Given the description of an element on the screen output the (x, y) to click on. 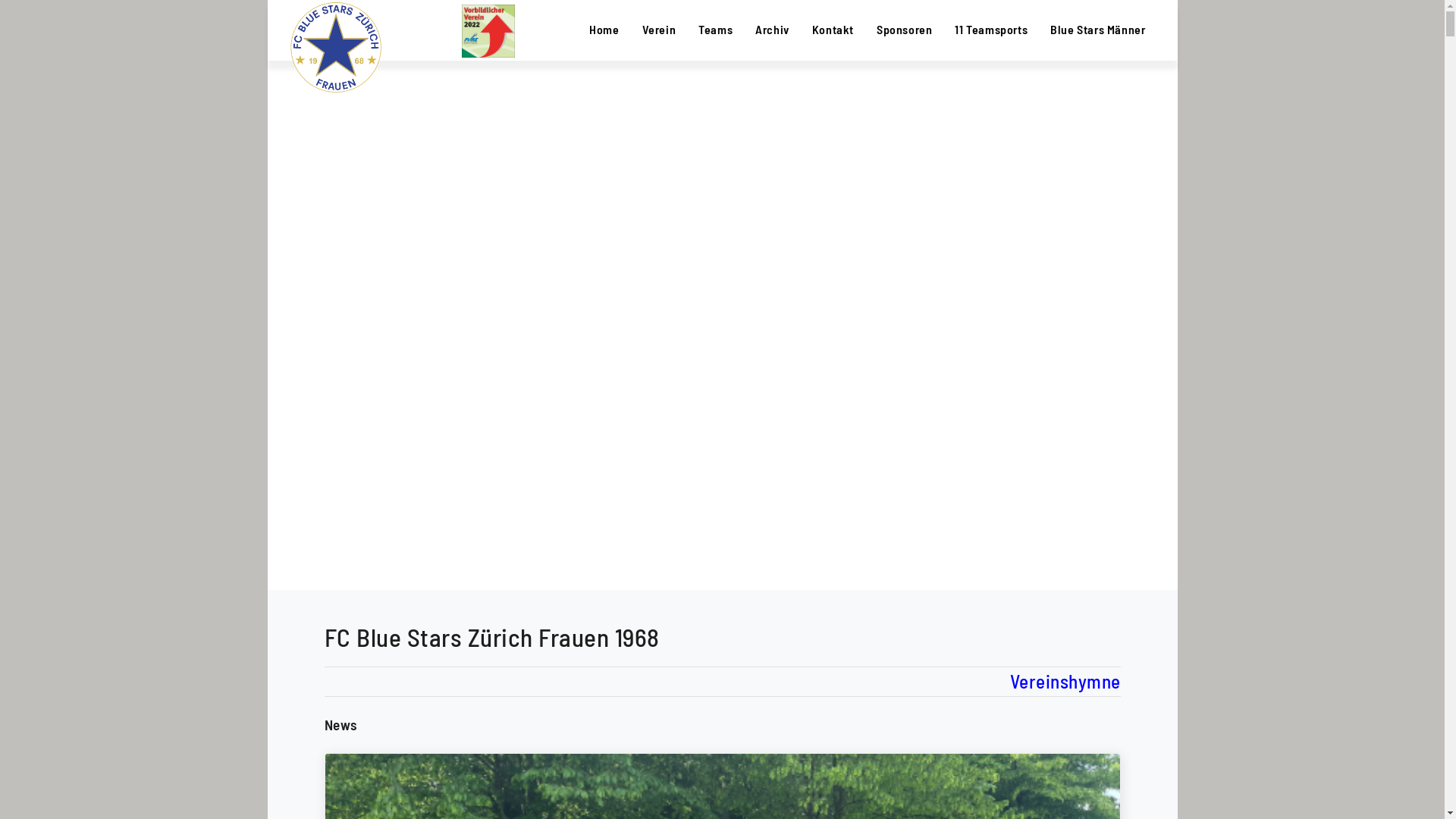
Teams Element type: text (715, 28)
Verein Element type: text (659, 28)
Archiv Element type: text (772, 28)
Sponsoren Element type: text (904, 28)
Vereinshymne Element type: text (1065, 681)
Kontakt Element type: text (832, 28)
Home Element type: text (603, 28)
11 Teamsports Element type: text (990, 28)
